Given the description of an element on the screen output the (x, y) to click on. 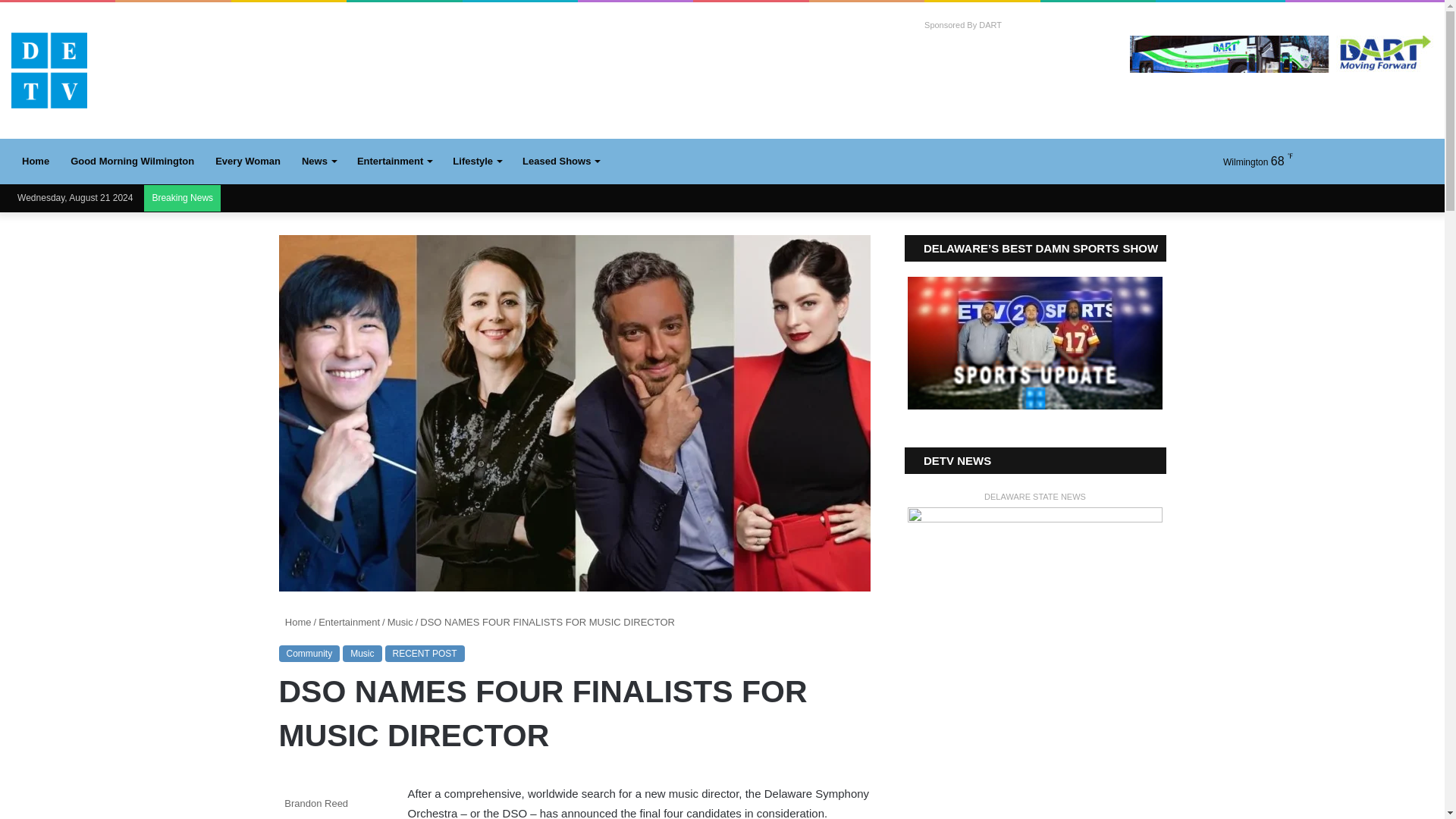
Every Woman (248, 161)
Sponsored By DART (962, 25)
Leased Shows (561, 161)
Home (35, 161)
DETVCH (49, 70)
Sponsored By DART (962, 25)
Good Morning Wilmington (132, 161)
News (318, 161)
Entertainment (394, 161)
Scattered Clouds (1243, 160)
